Given the description of an element on the screen output the (x, y) to click on. 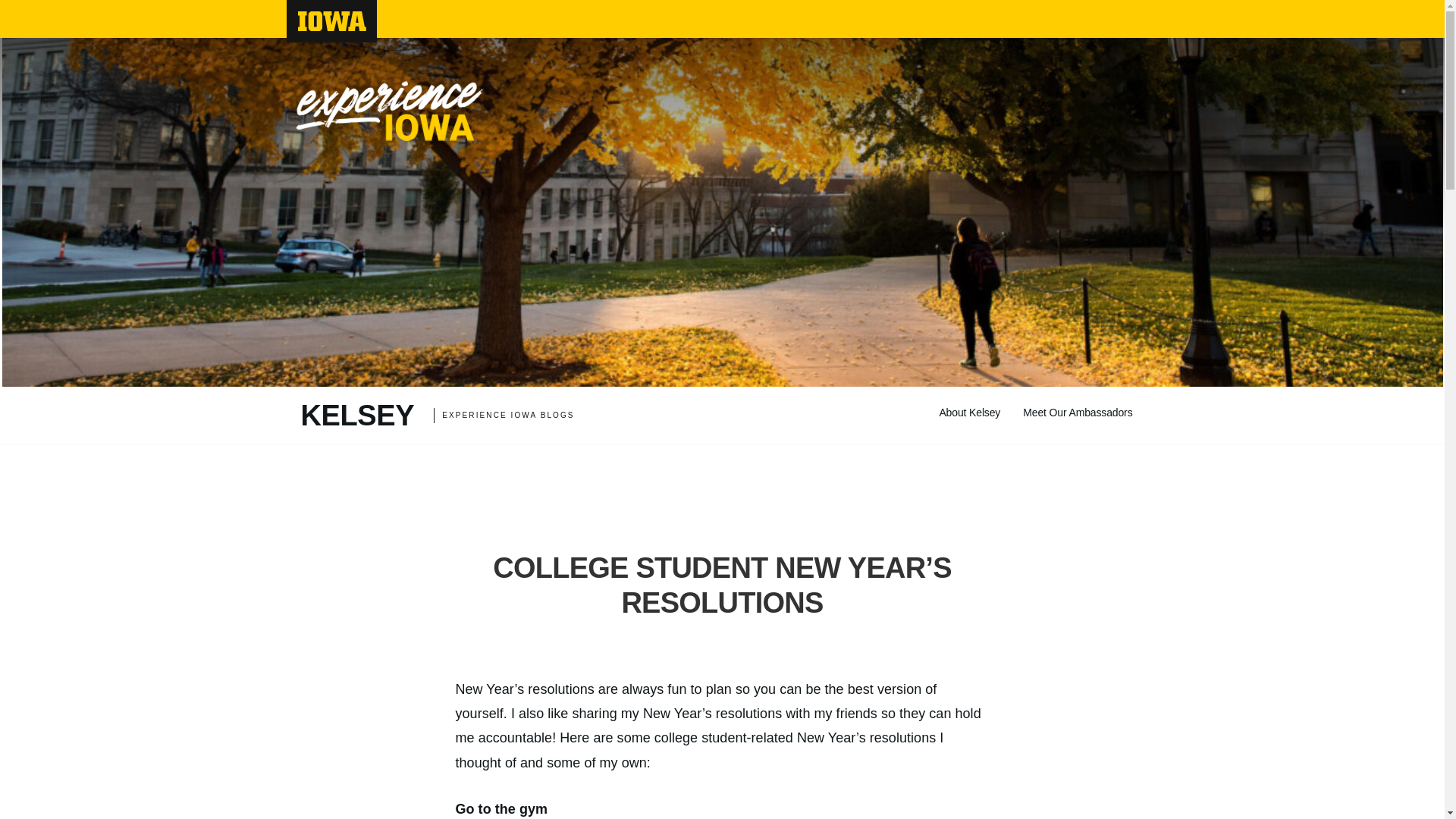
" (332, 26)
About Kelsey (389, 103)
KELSEY (969, 412)
University of Iowa (356, 415)
Meet Our Ambassadors (331, 21)
